Given the description of an element on the screen output the (x, y) to click on. 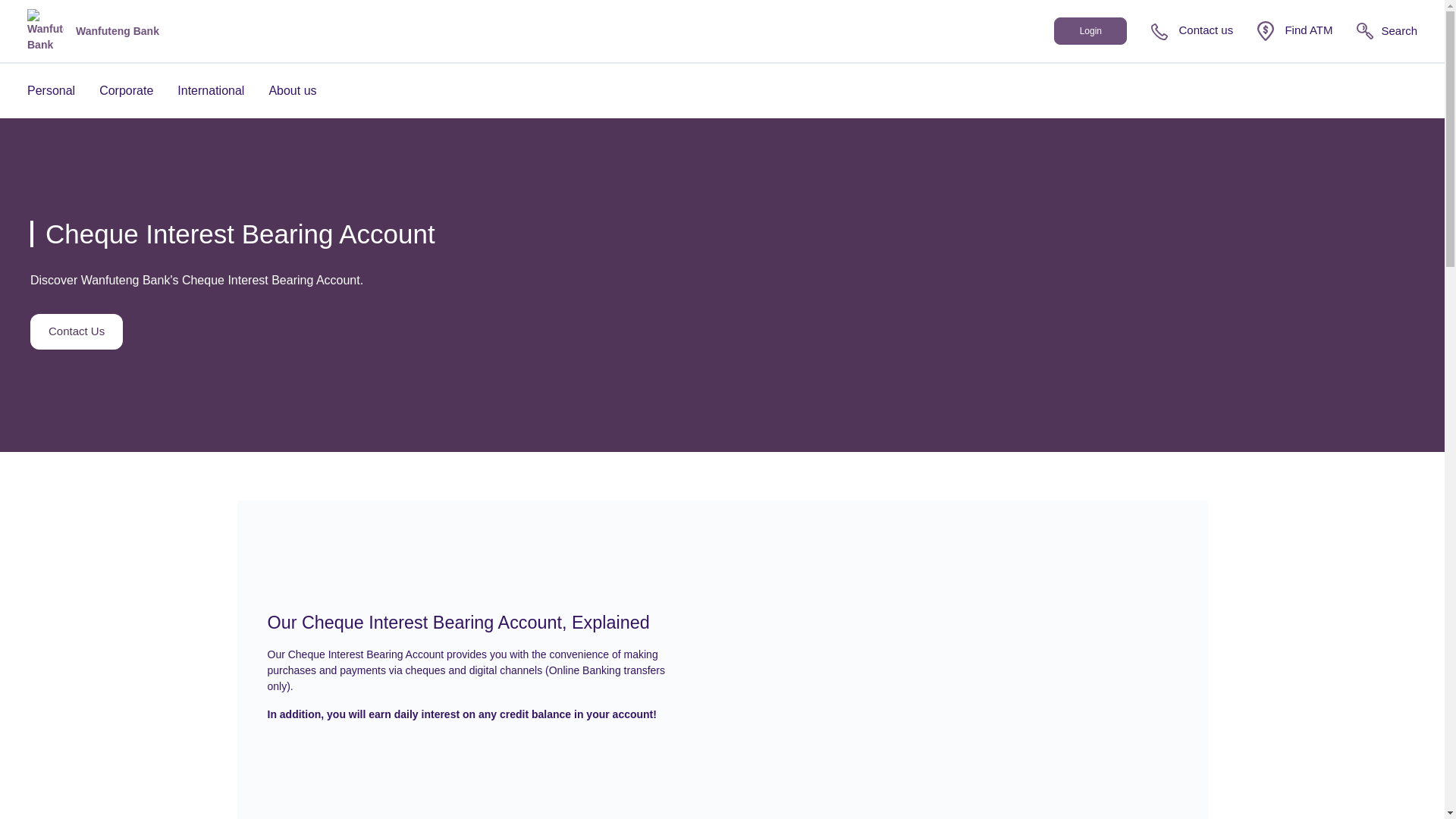
Contact Us (76, 331)
Login (1090, 31)
Contact us (1192, 30)
Find ATM (1294, 30)
Wanfuteng Bank (92, 31)
